Given the description of an element on the screen output the (x, y) to click on. 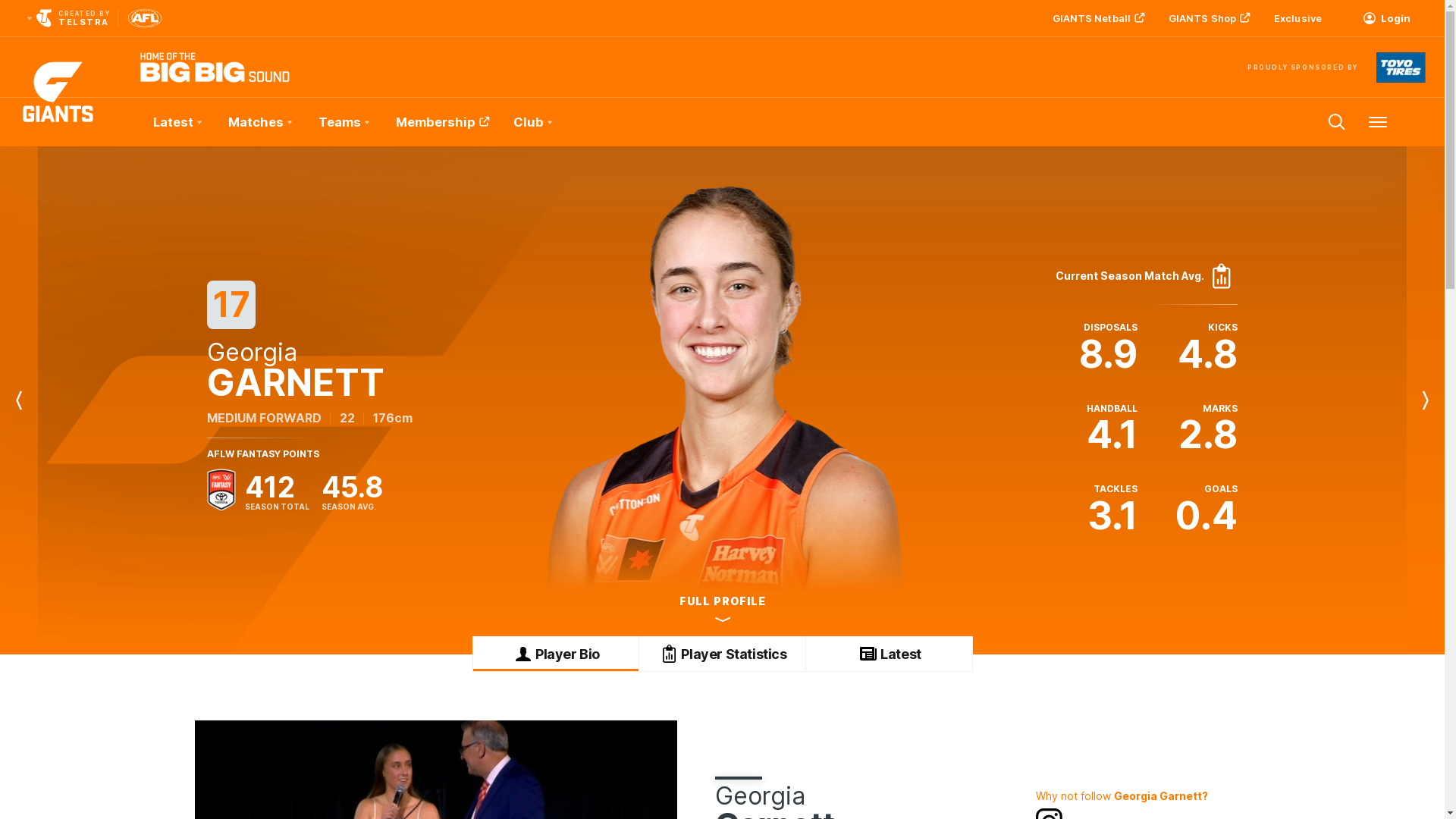
CREATED BY
TELSTRA Element type: text (66, 18)
Matches Element type: text (259, 121)
Next Player Element type: text (1425, 400)
Club Logo Element type: text (57, 121)
Membership Element type: text (440, 121)
GIANTS Netball Element type: text (1096, 18)
GIANTS Shop Element type: text (1207, 18)
Login Element type: text (1386, 18)
Club Element type: text (531, 121)
Teams Element type: text (343, 121)
Menu Element type: text (1377, 121)
Latest Element type: text (176, 121)
Previous Player Element type: text (18, 400)
Exclusive Element type: text (1297, 18)
